Given the description of an element on the screen output the (x, y) to click on. 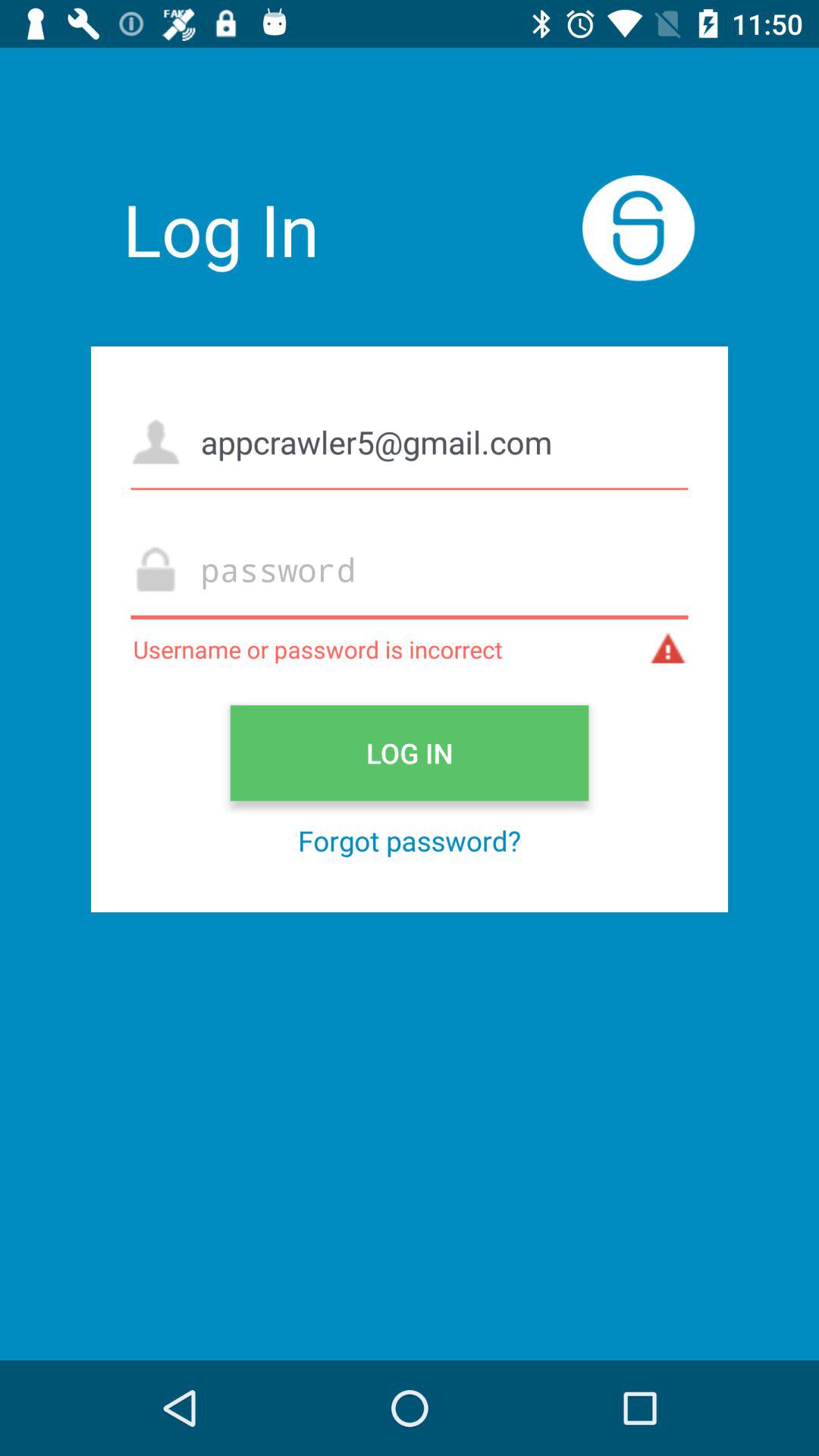
click the appcrawler5@gmail.com (409, 441)
